Given the description of an element on the screen output the (x, y) to click on. 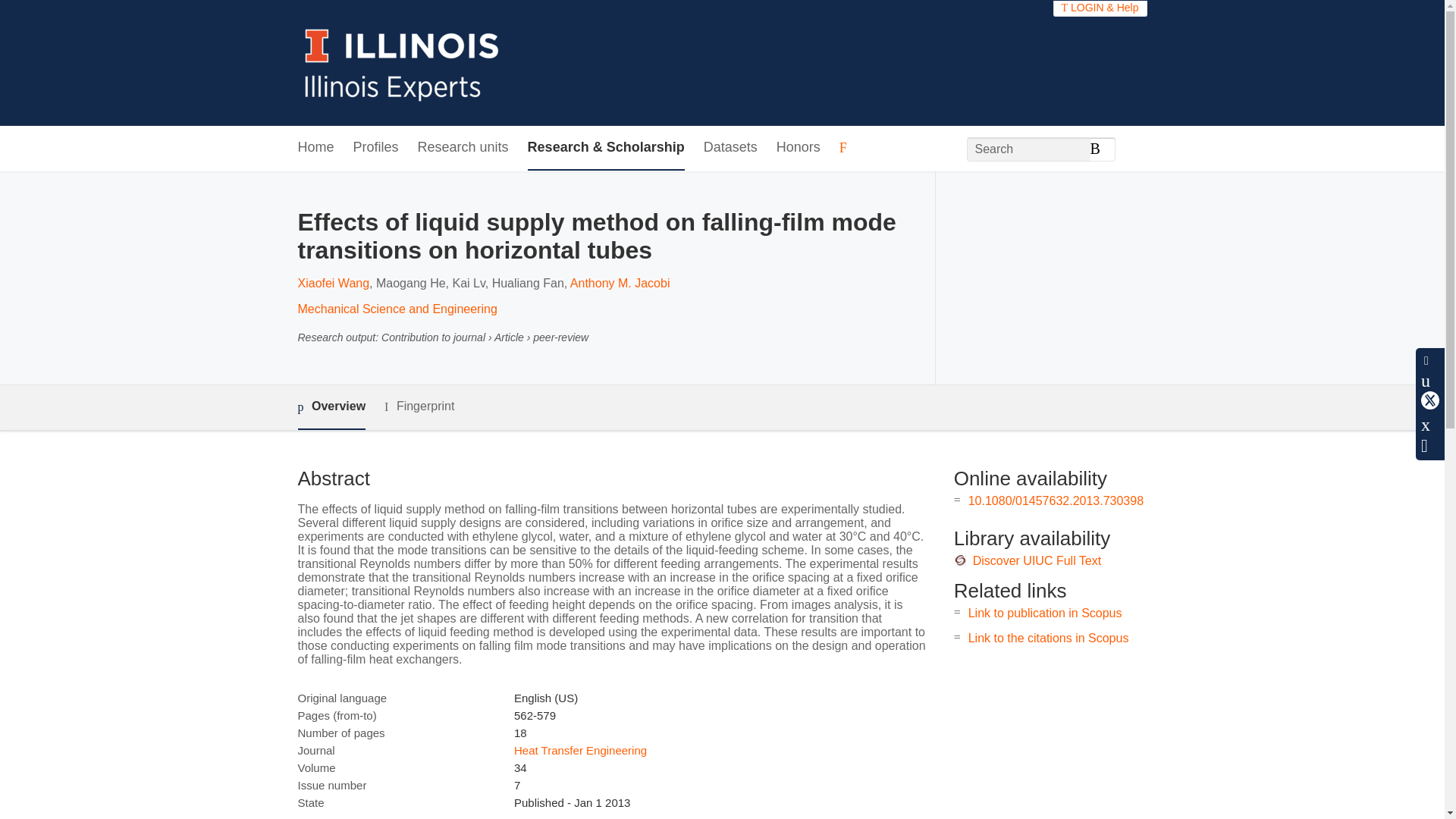
Link to publication in Scopus (1045, 612)
Link to the citations in Scopus (1048, 637)
University of Illinois Urbana-Champaign Home (402, 62)
Research units (462, 148)
Overview (331, 406)
Fingerprint (419, 406)
Anthony M. Jacobi (619, 282)
Heat Transfer Engineering (579, 749)
Mechanical Science and Engineering (396, 308)
